Given the description of an element on the screen output the (x, y) to click on. 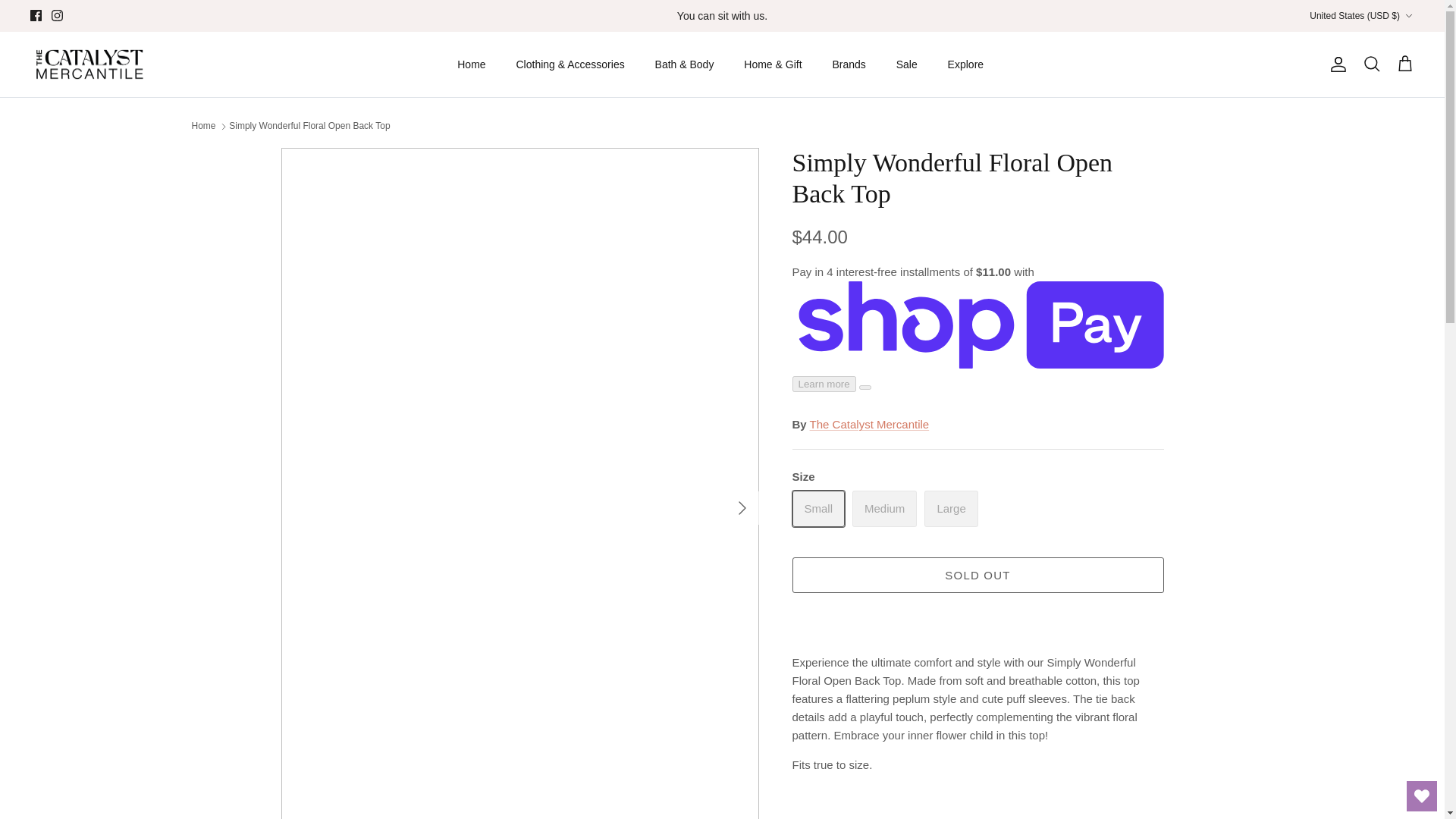
The Catalyst Mercantile (89, 64)
RIGHT (741, 508)
Facebook (36, 15)
Instagram (56, 15)
Facebook (36, 15)
Down (1408, 15)
Instagram (56, 15)
